Given the description of an element on the screen output the (x, y) to click on. 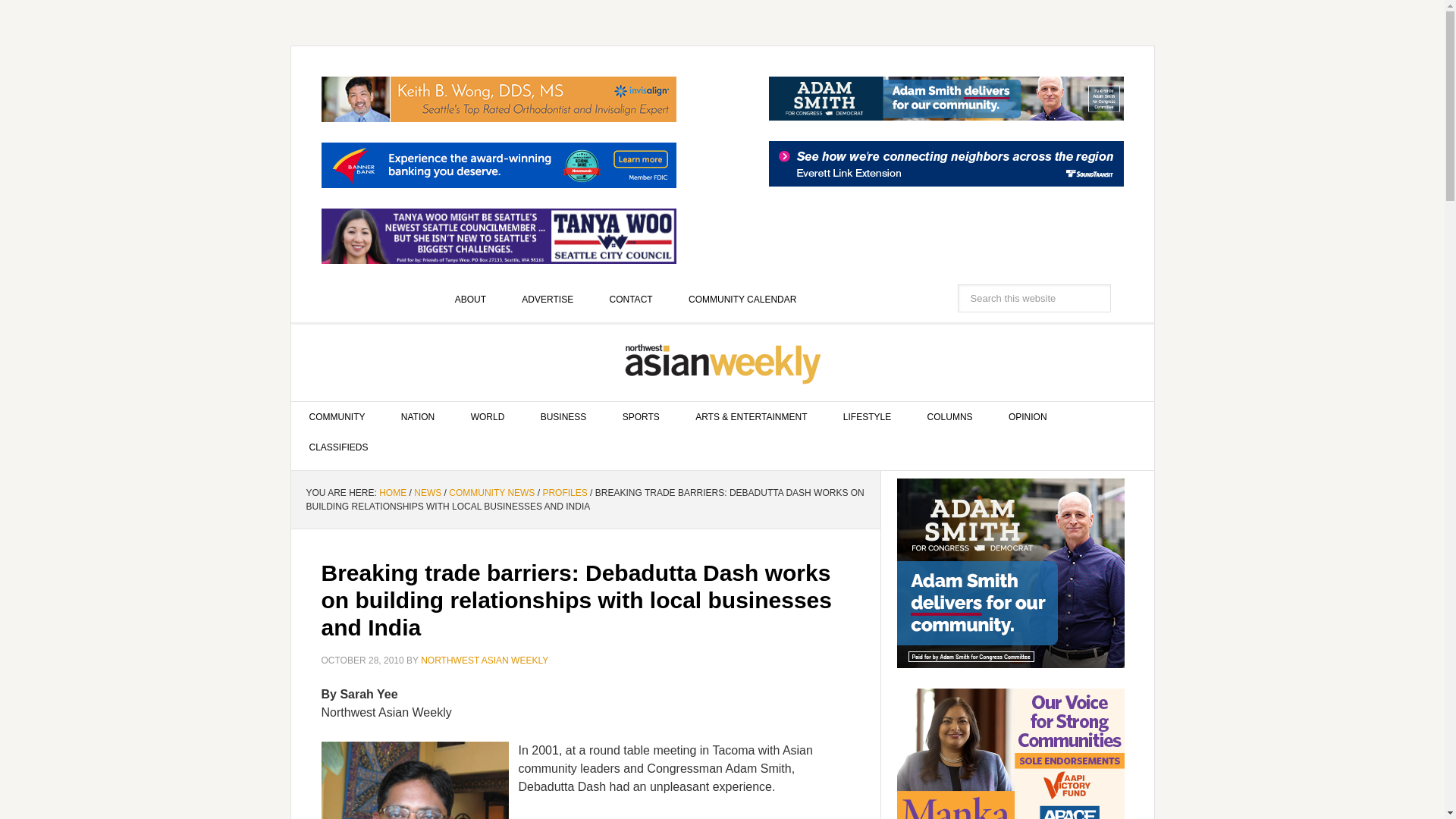
OPINION (1027, 417)
LIFESTYLE (866, 417)
ABOUT (469, 299)
COMMUNITY (337, 417)
COLUMNS (949, 417)
CLASSIFIEDS (339, 447)
ADVERTISE (547, 299)
NORTHWEST ASIAN WEEKLY (722, 362)
NATION (417, 417)
SPORTS (641, 417)
HOME (392, 492)
WORLD (487, 417)
